Given the description of an element on the screen output the (x, y) to click on. 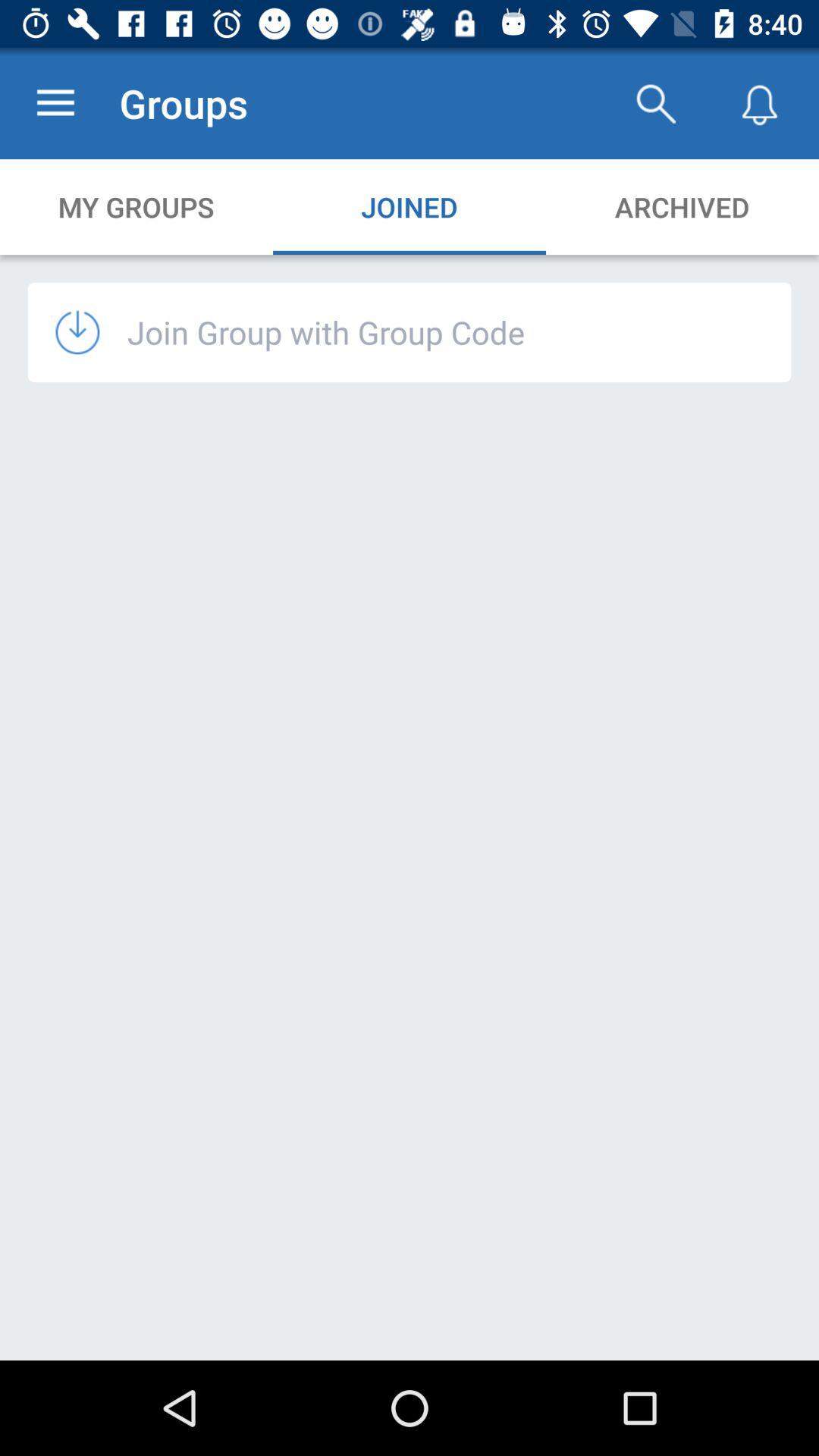
flip until join group with icon (325, 331)
